Given the description of an element on the screen output the (x, y) to click on. 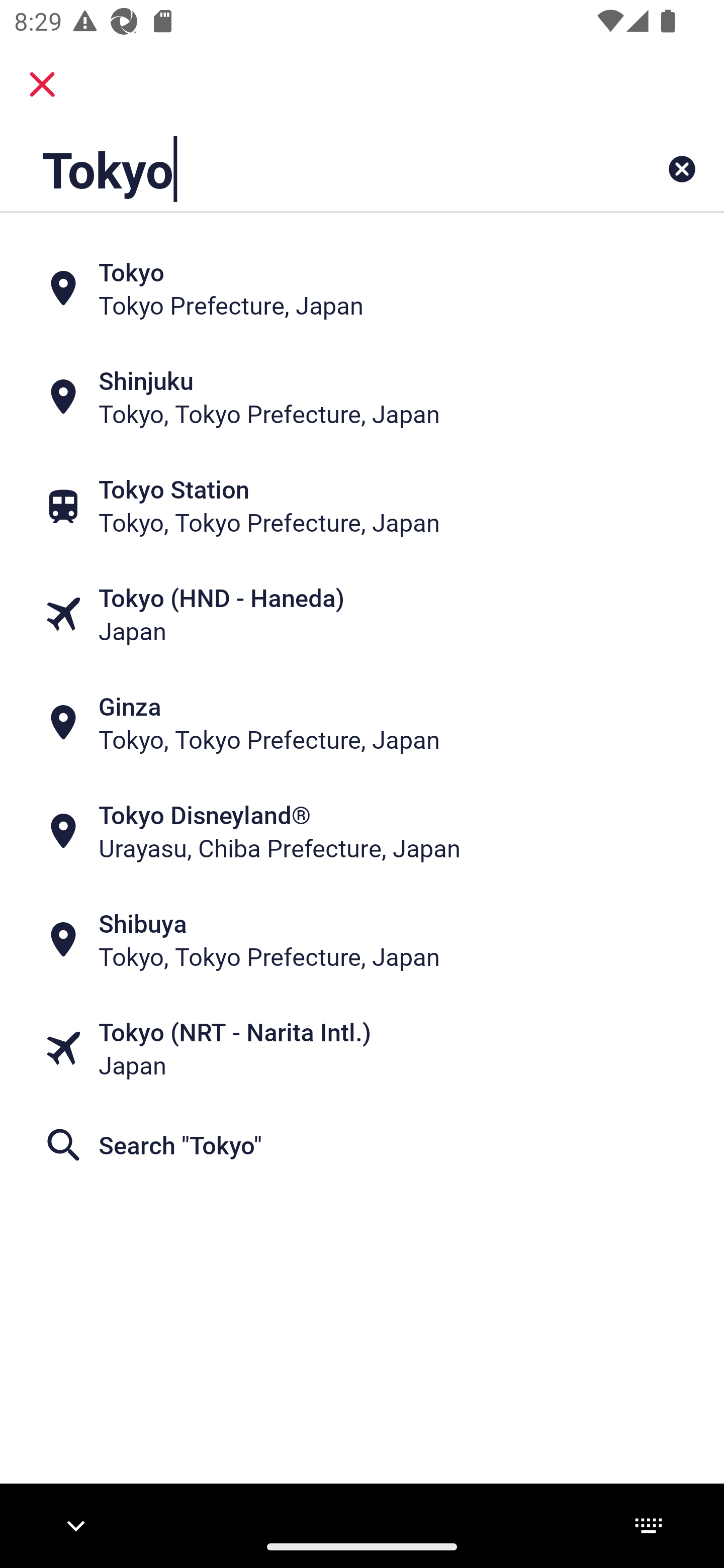
close. (42, 84)
Clear (681, 169)
Tokyo (298, 169)
Tokyo Tokyo Prefecture, Japan (362, 288)
Shinjuku Tokyo, Tokyo Prefecture, Japan (362, 397)
Tokyo Station Tokyo, Tokyo Prefecture, Japan (362, 505)
Tokyo (HND - Haneda) Japan (362, 613)
Ginza Tokyo, Tokyo Prefecture, Japan (362, 722)
Tokyo Disneyland® Urayasu, Chiba Prefecture, Japan (362, 831)
Shibuya Tokyo, Tokyo Prefecture, Japan (362, 939)
Tokyo (NRT - Narita Intl.) Japan (362, 1048)
Search "Tokyo" (362, 1144)
